Given the description of an element on the screen output the (x, y) to click on. 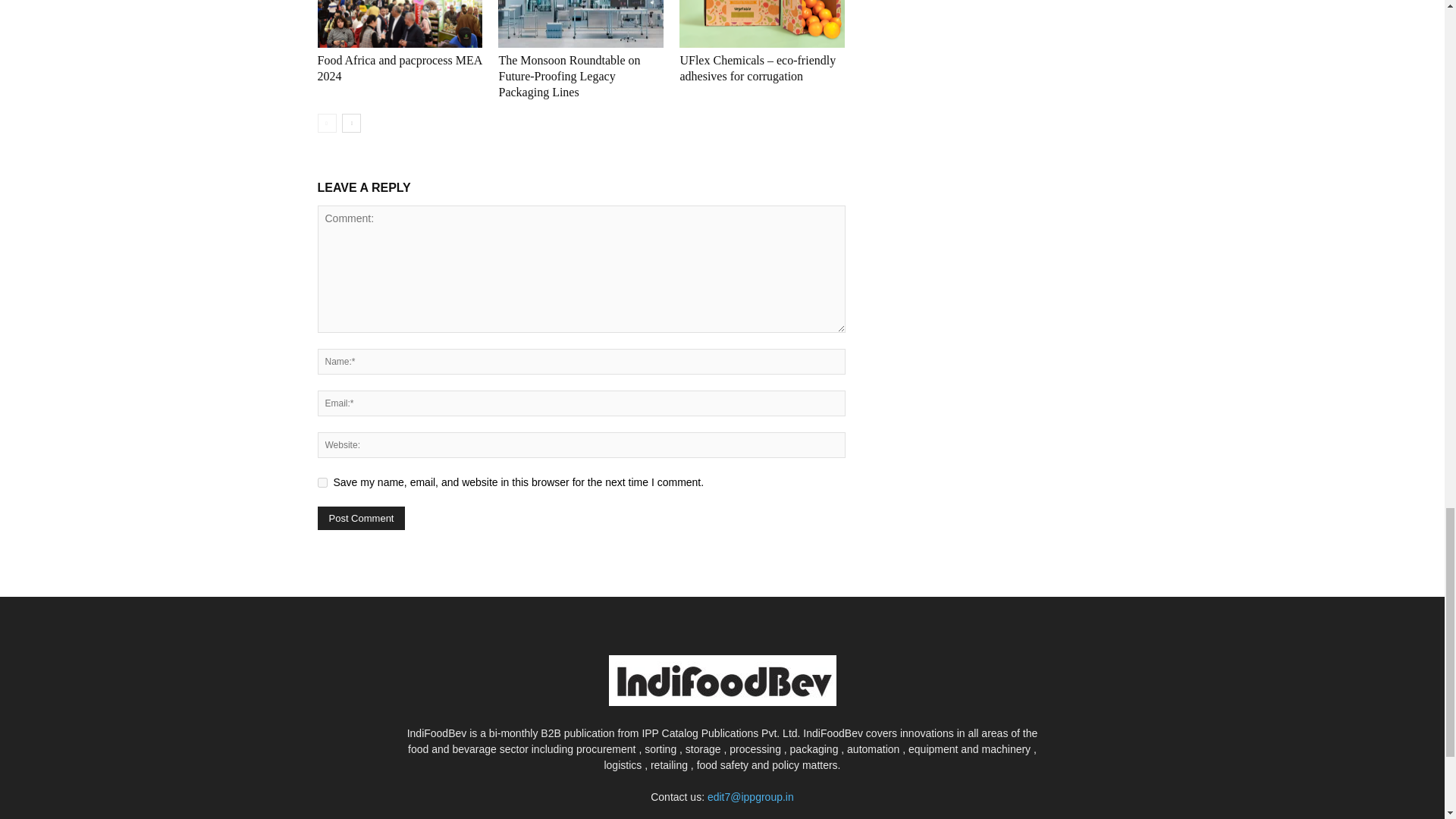
yes (321, 482)
Post Comment (360, 517)
